Given the description of an element on the screen output the (x, y) to click on. 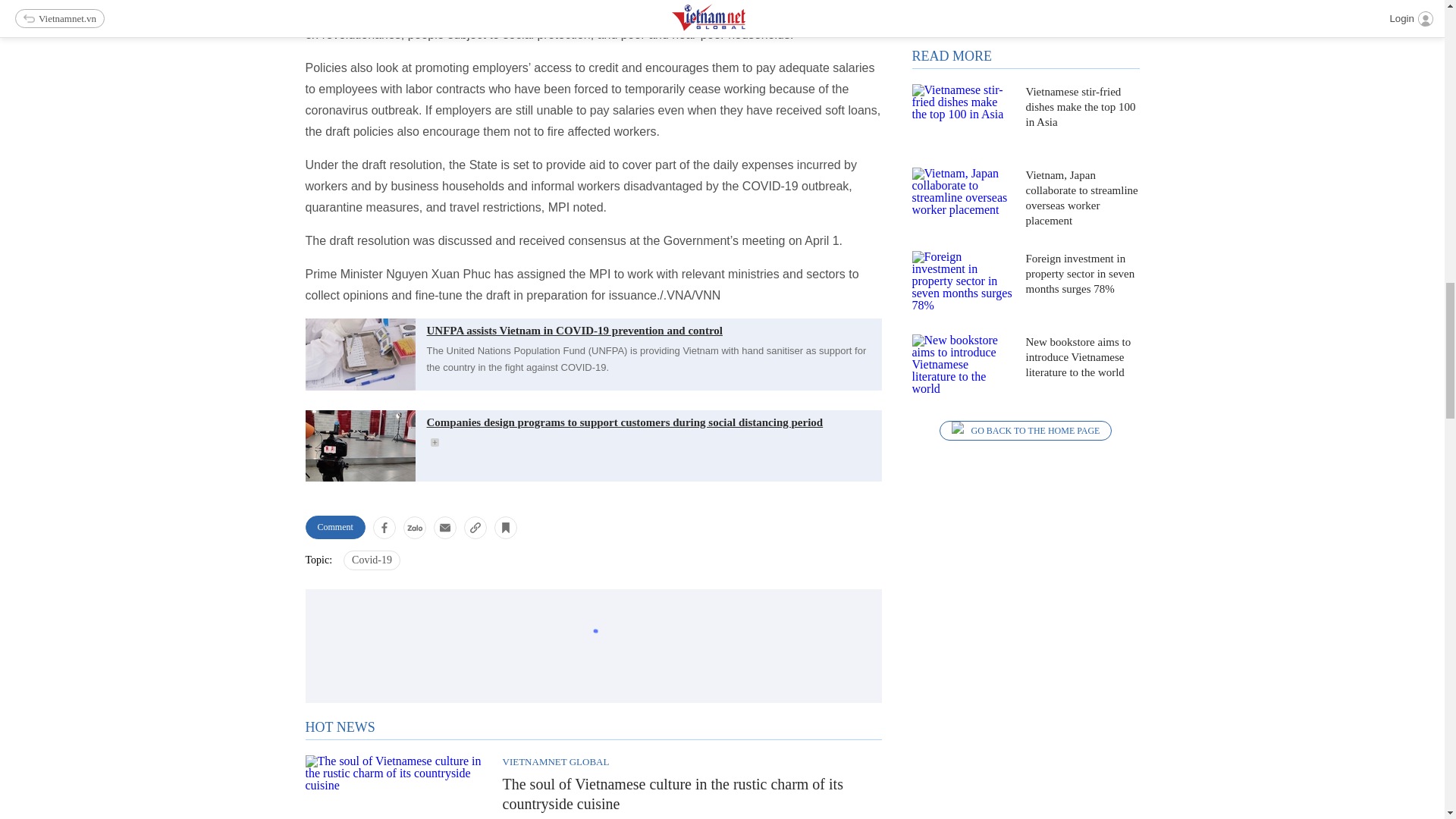
UNFPA assists Vietnam in COVID-19 prevention and control (592, 328)
